Given the description of an element on the screen output the (x, y) to click on. 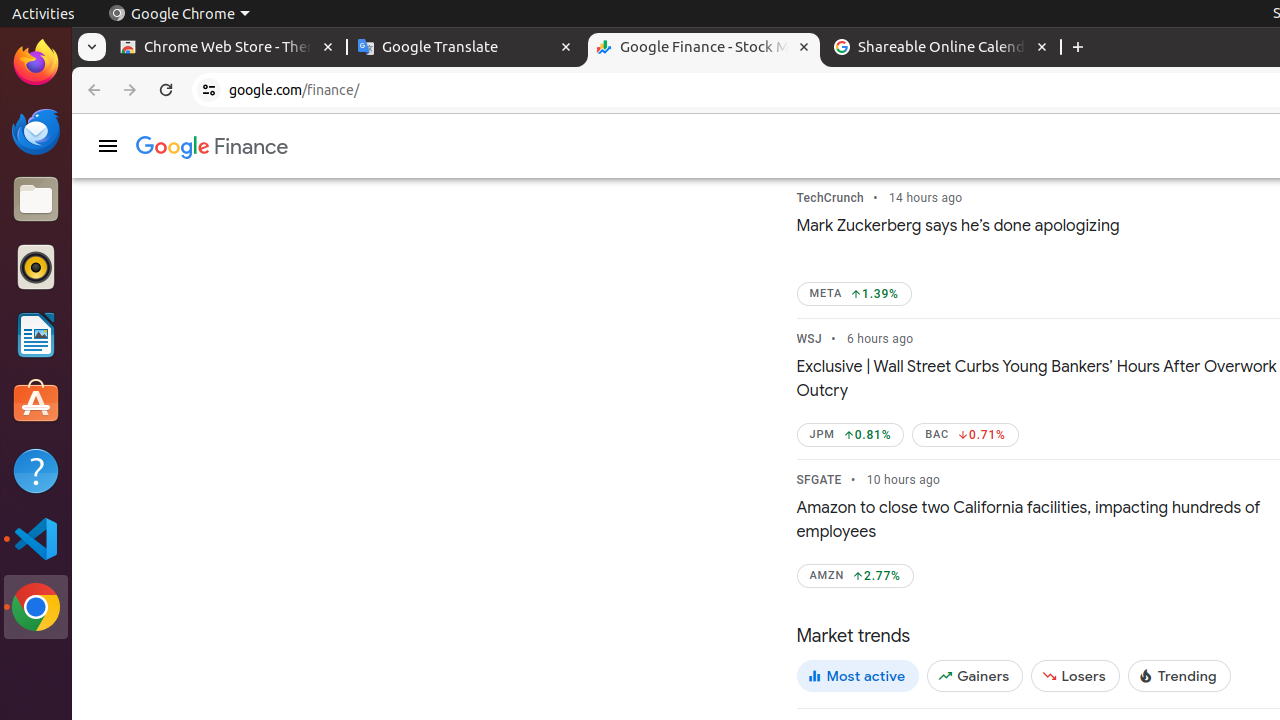
Reload Element type: push-button (166, 90)
Rhythmbox Element type: push-button (36, 267)
LibreOffice Writer Element type: push-button (36, 334)
New Tab Element type: push-button (1078, 47)
Losers Element type: page-tab (1075, 676)
